Given the description of an element on the screen output the (x, y) to click on. 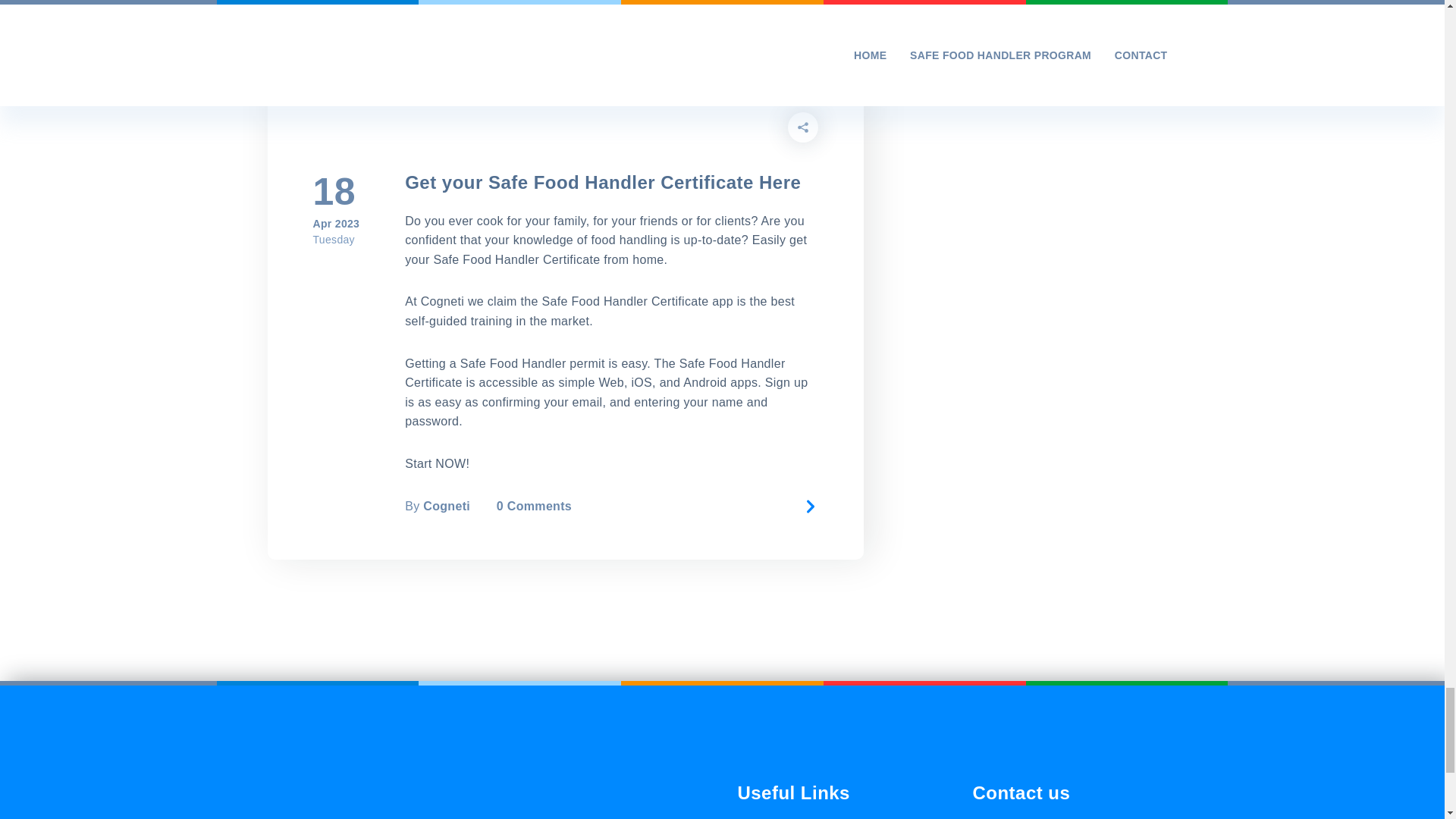
cogneti 235 (564, 63)
